Given the description of an element on the screen output the (x, y) to click on. 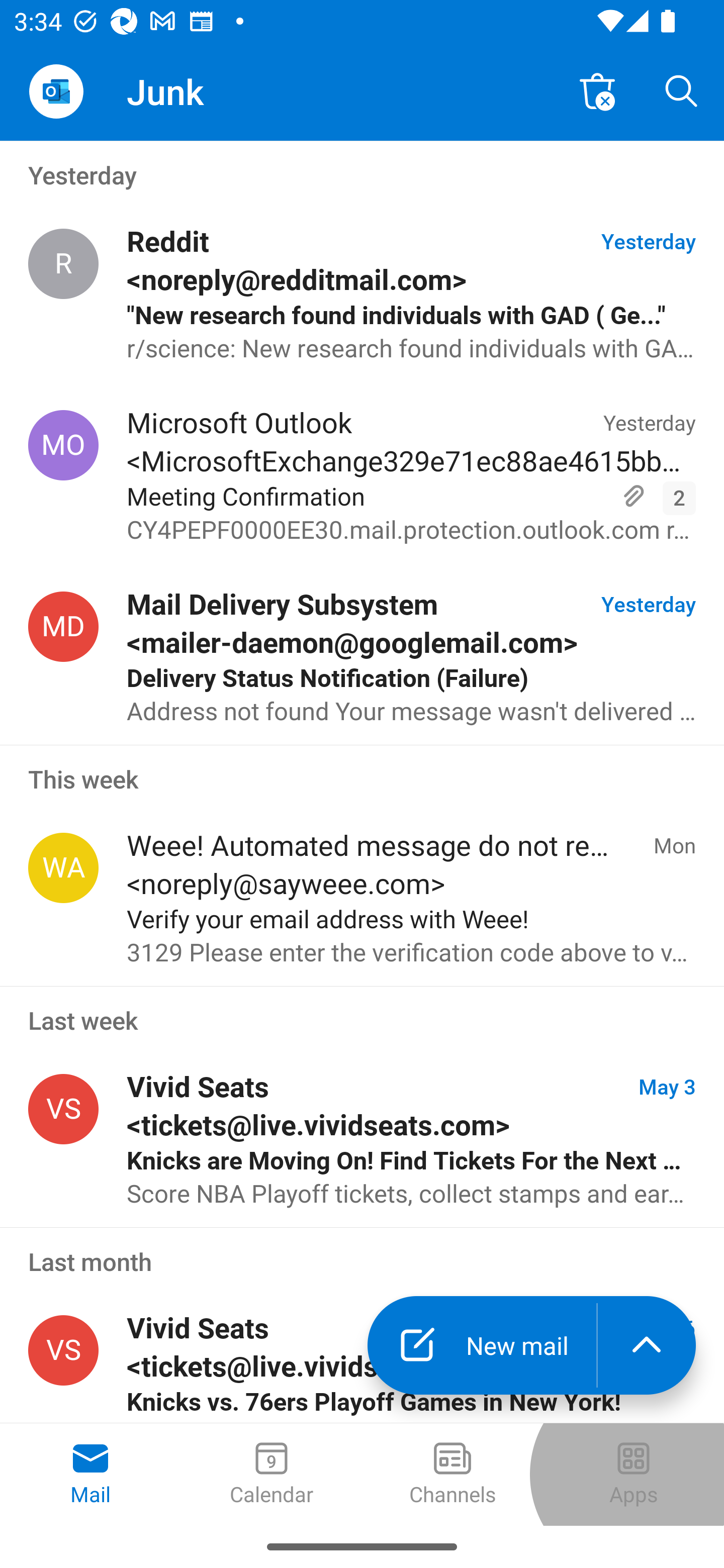
Empty Junk (597, 90)
Search, ,  (681, 90)
Open Navigation Drawer (55, 91)
Reddit, noreply@redditmail.com (63, 263)
Vivid Seats, tickets@live.vividseats.com (63, 1109)
New mail (481, 1344)
launch the extended action menu (646, 1344)
Vivid Seats, tickets@live.vividseats.com (63, 1350)
Calendar (271, 1474)
Channels (452, 1474)
Apps (633, 1474)
